Given the description of an element on the screen output the (x, y) to click on. 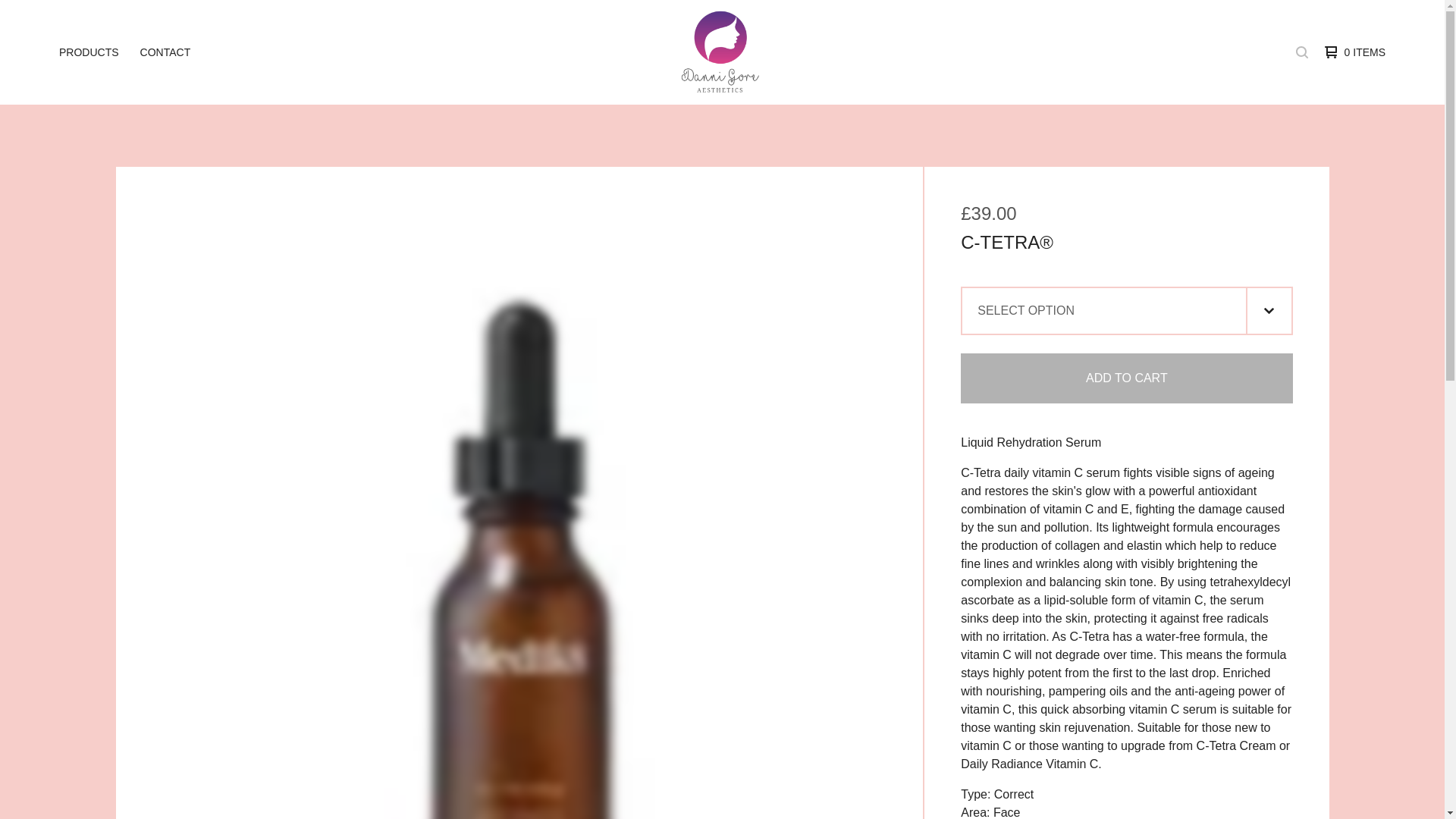
View cart (1351, 52)
Danni Gore Aesthetics (719, 52)
CONTACT (165, 52)
PRODUCTS (89, 52)
0 ITEMS (1351, 52)
